Given the description of an element on the screen output the (x, y) to click on. 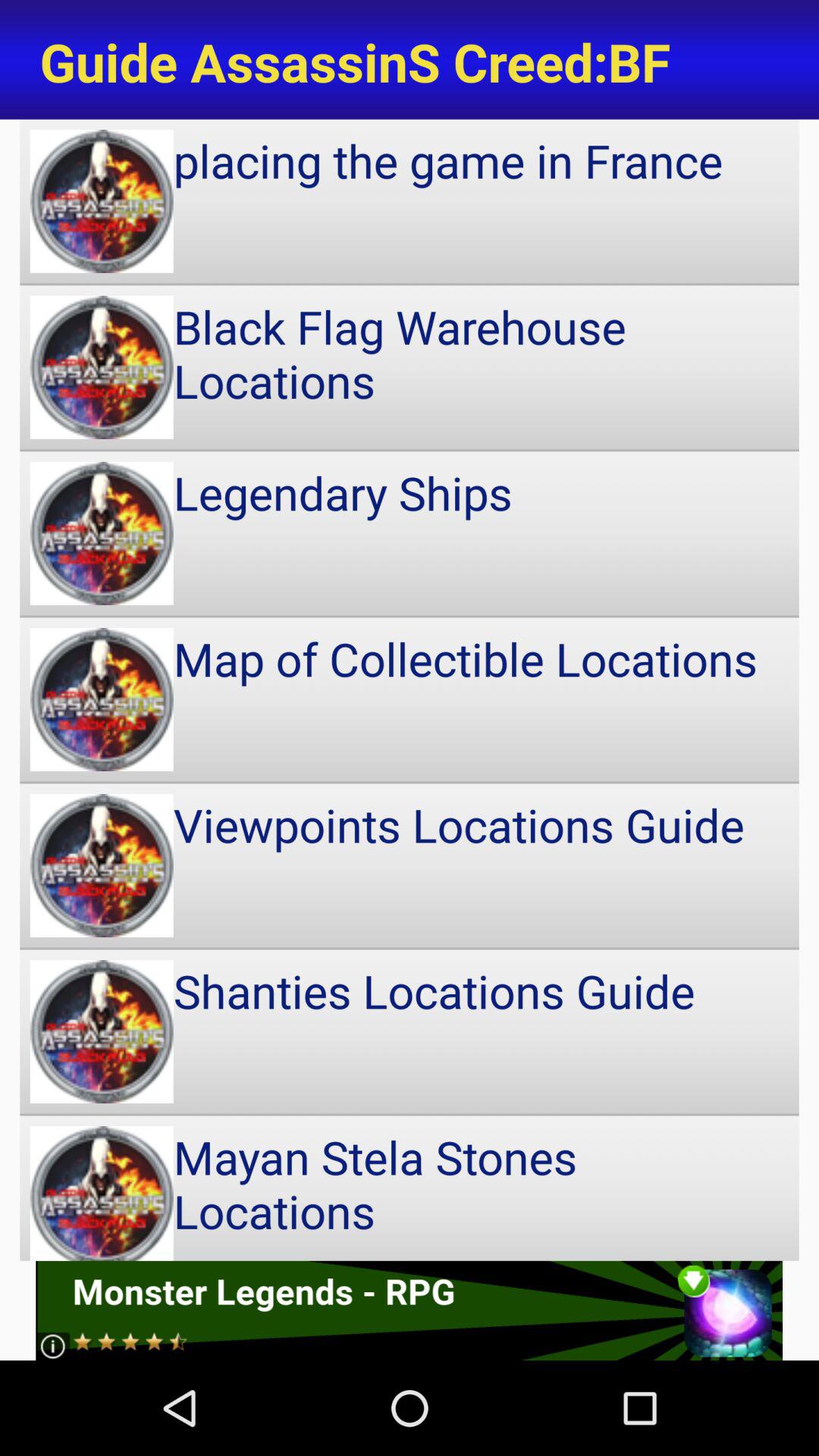
scroll to the mayan stela stones item (409, 1187)
